Given the description of an element on the screen output the (x, y) to click on. 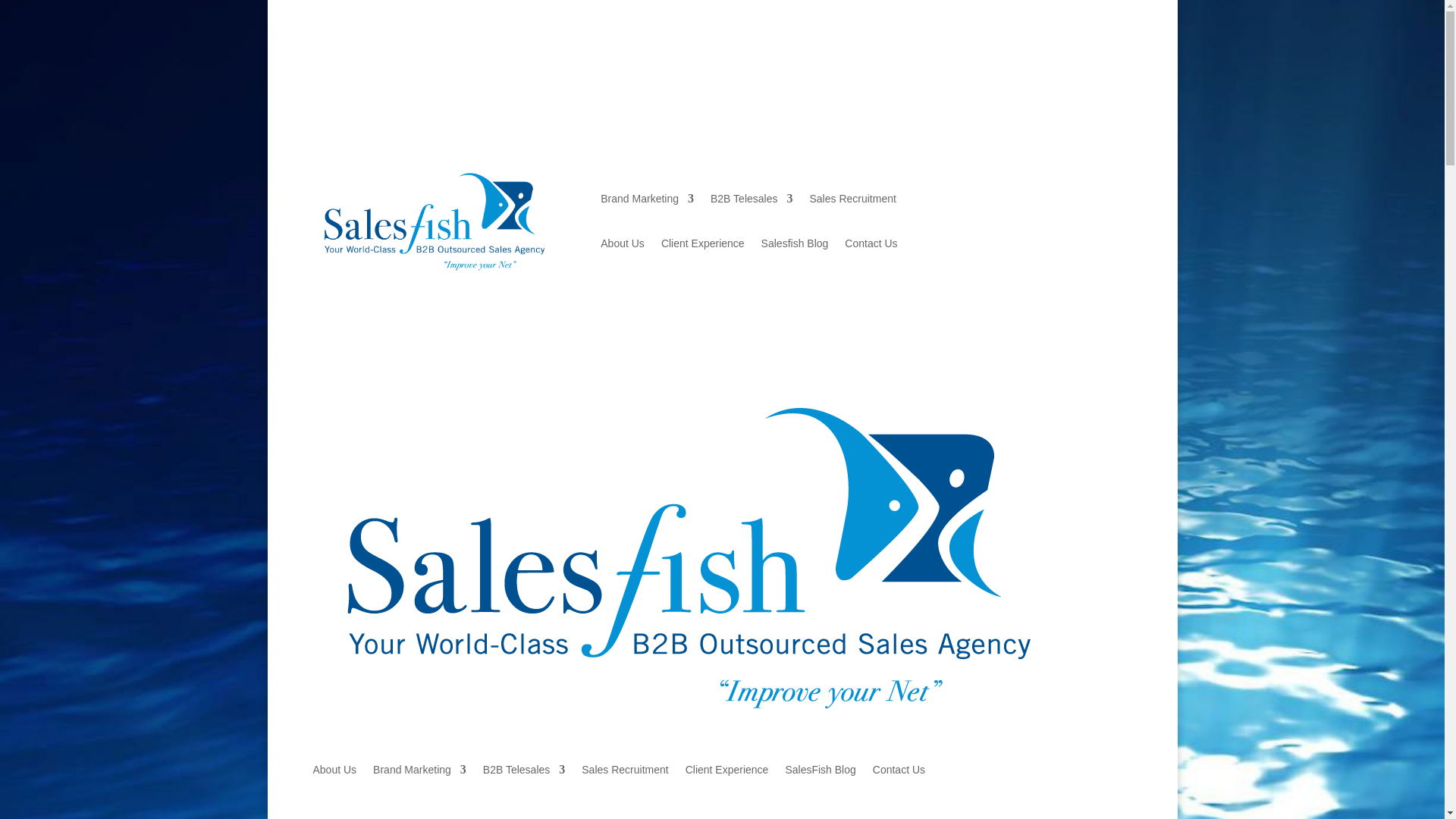
Sales Recruitment (852, 201)
Contact Us (870, 246)
B2B Telesales (751, 201)
B2B Telesales (523, 772)
Brand Marketing (418, 772)
About Us (622, 246)
Brand Marketing (646, 201)
Salesfish Blog (794, 246)
About Us (334, 772)
Client Experience (702, 246)
